Given the description of an element on the screen output the (x, y) to click on. 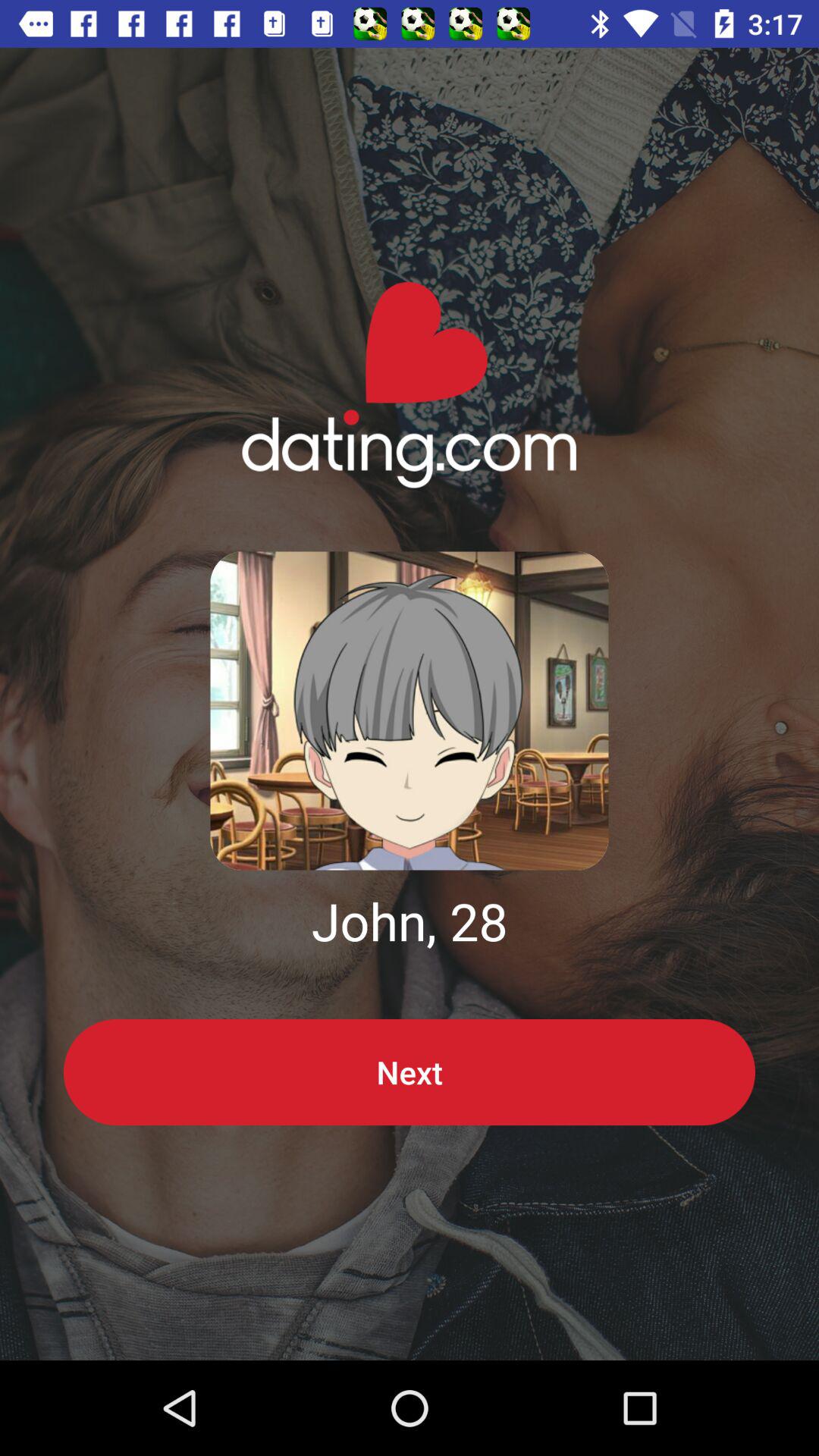
profile photo (409, 710)
